Given the description of an element on the screen output the (x, y) to click on. 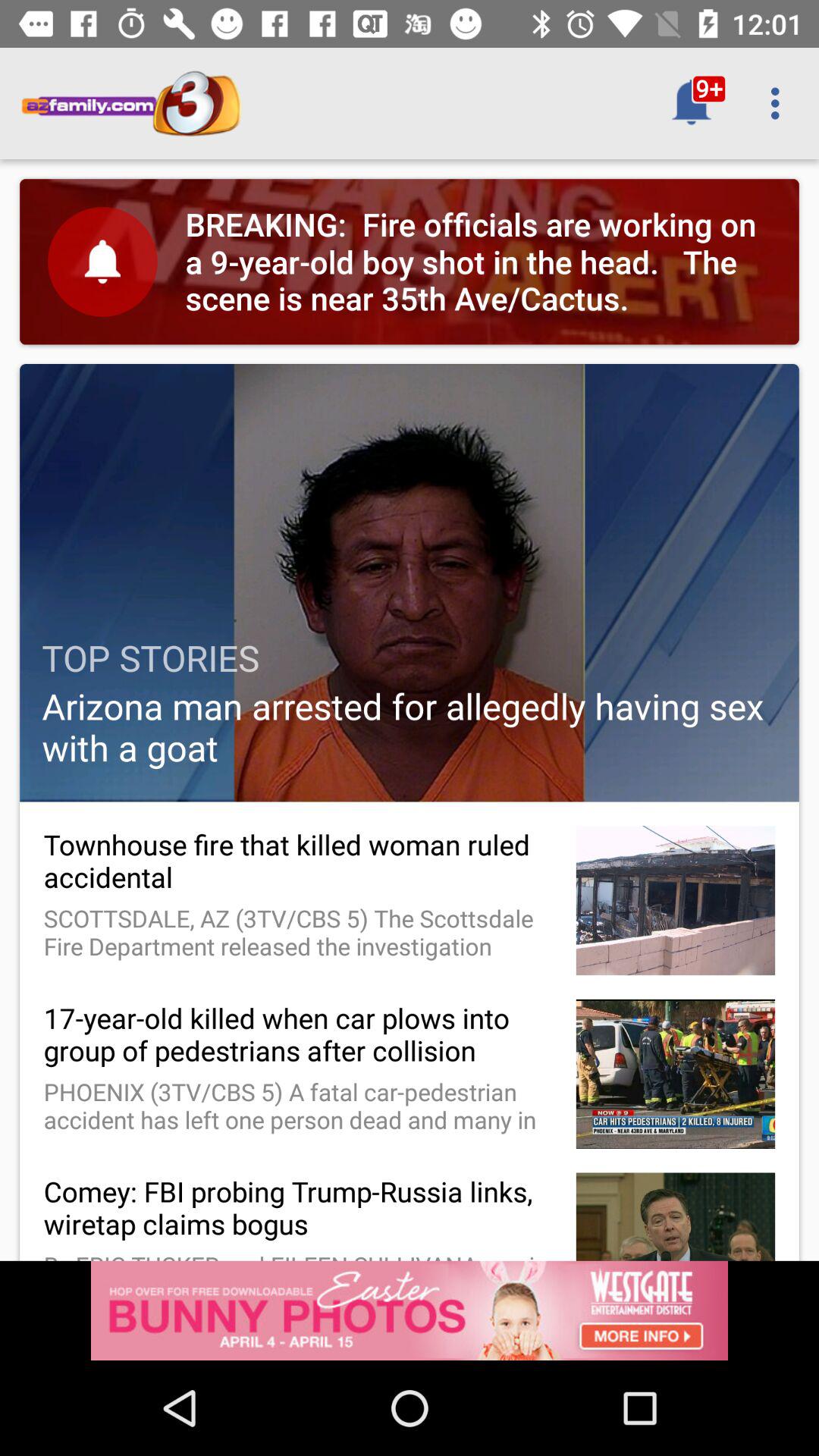
select the first frame in the azfamilycom (409, 262)
click on second icon which is at top right corner (779, 103)
click the notification icon (691, 103)
